Given the description of an element on the screen output the (x, y) to click on. 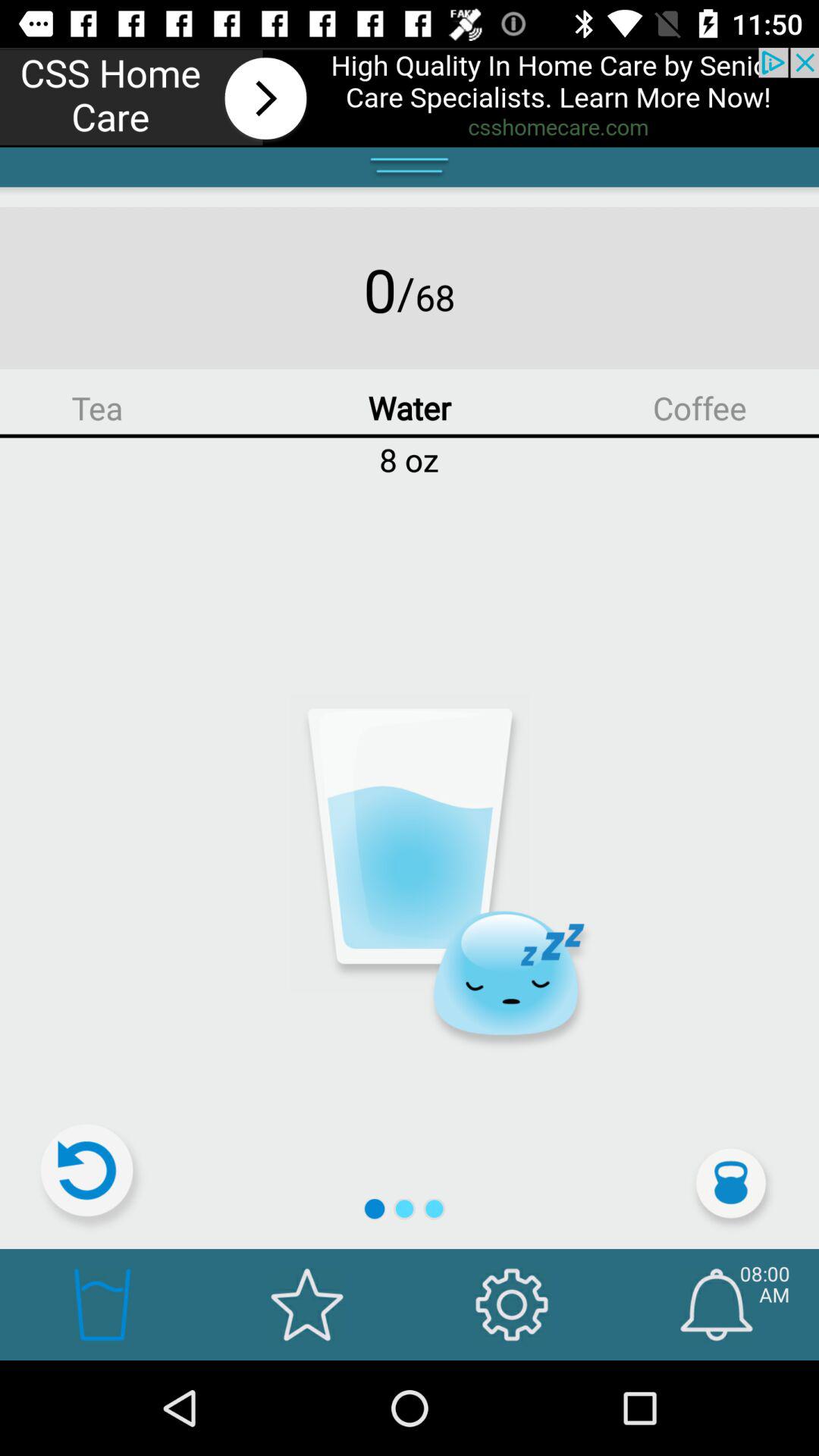
refresh (93, 1177)
